Given the description of an element on the screen output the (x, y) to click on. 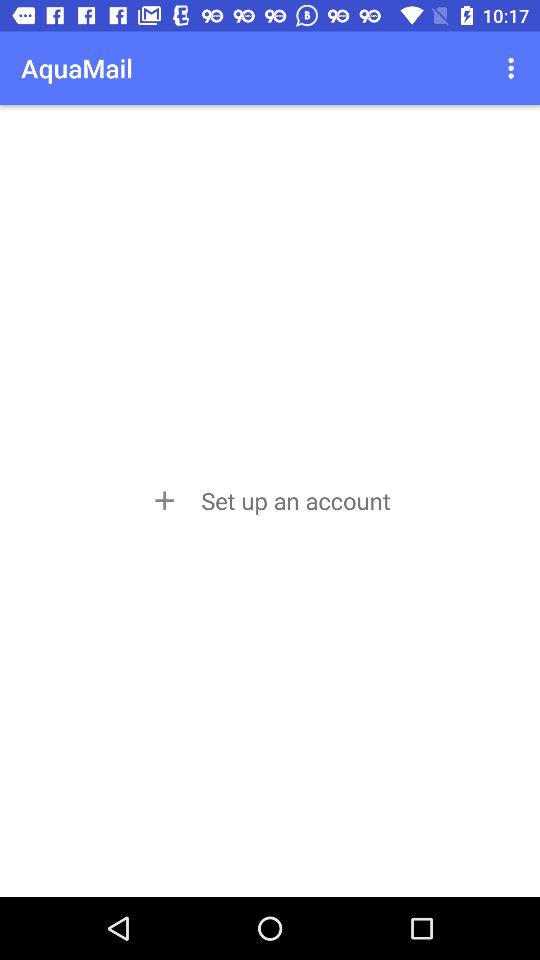
flip until the set up an icon (269, 500)
